Given the description of an element on the screen output the (x, y) to click on. 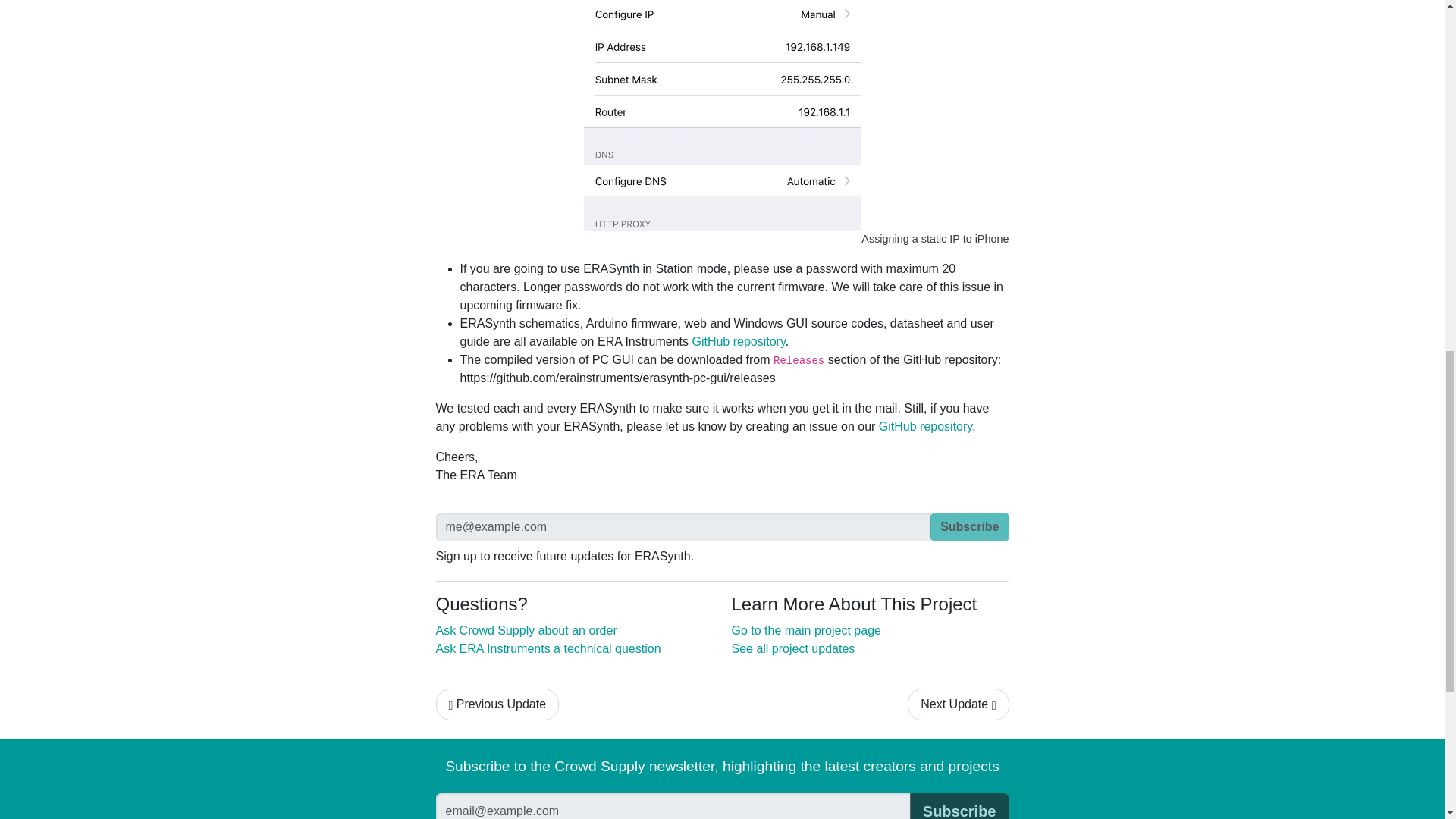
Subscribe (959, 806)
GitHub repository (925, 426)
Previous Update (497, 704)
GitHub repository (737, 341)
Ask ERA Instruments a technical question (548, 648)
Subscribe (969, 526)
See all project updates (792, 648)
Next Update (958, 704)
Go to the main project page (805, 630)
Ask Crowd Supply about an order (525, 630)
